Given the description of an element on the screen output the (x, y) to click on. 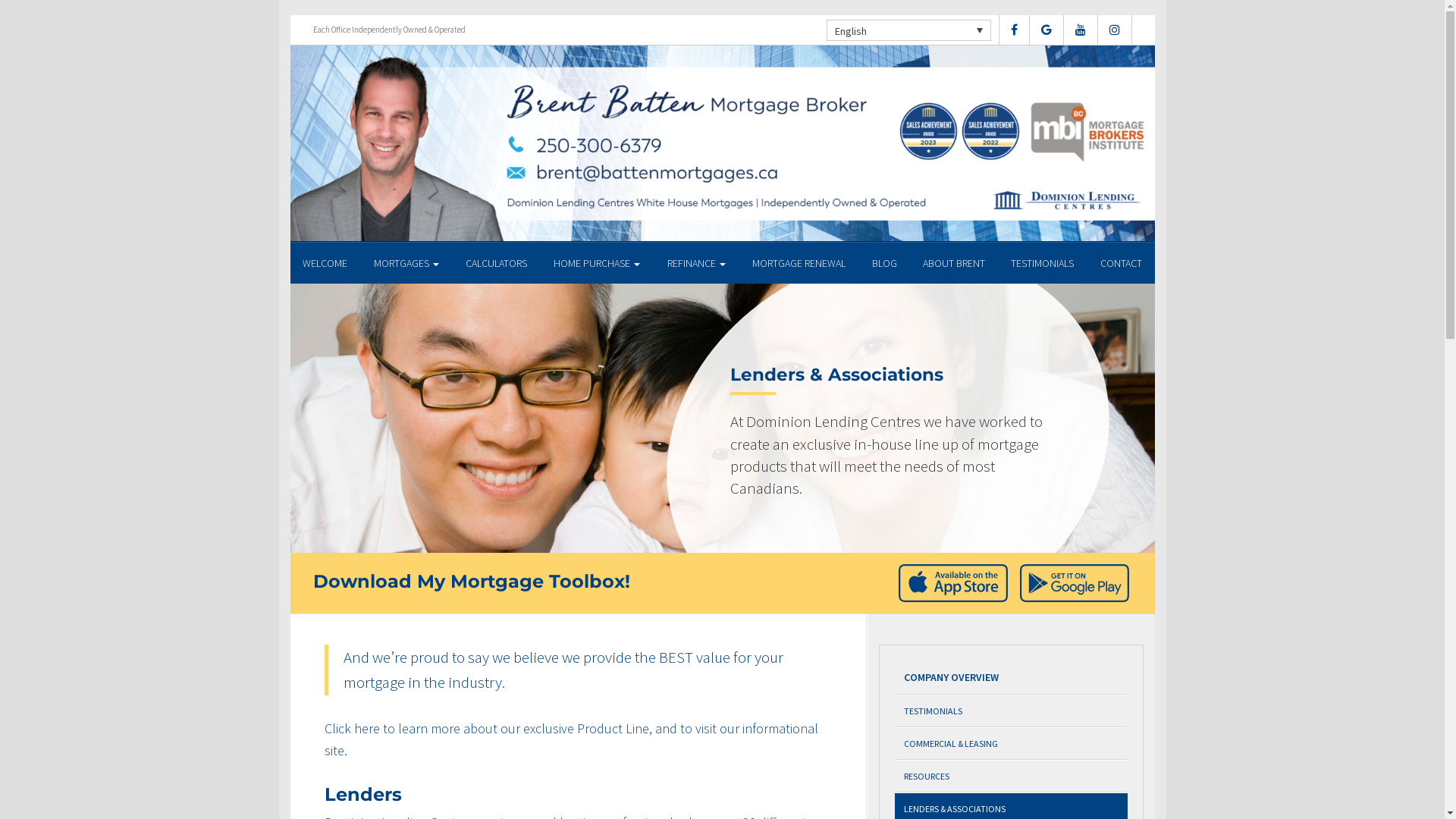
WELCOME Element type: text (324, 262)
RESOURCES Element type: text (1010, 775)
ABOUT BRENT Element type: text (953, 262)
TESTIMONIALS Element type: text (1010, 710)
MORTGAGES Element type: text (405, 262)
CONTACT Element type: text (1120, 262)
COMPANY OVERVIEW Element type: text (1010, 677)
CALCULATORS Element type: text (495, 262)
BLOG Element type: text (884, 262)
English Element type: text (908, 29)
COMMERCIAL & LEASING Element type: text (1010, 743)
MORTGAGE RENEWAL Element type: text (798, 262)
TESTIMONIALS Element type: text (1042, 262)
HOME PURCHASE Element type: text (596, 262)
REFINANCE Element type: text (695, 262)
